Given the description of an element on the screen output the (x, y) to click on. 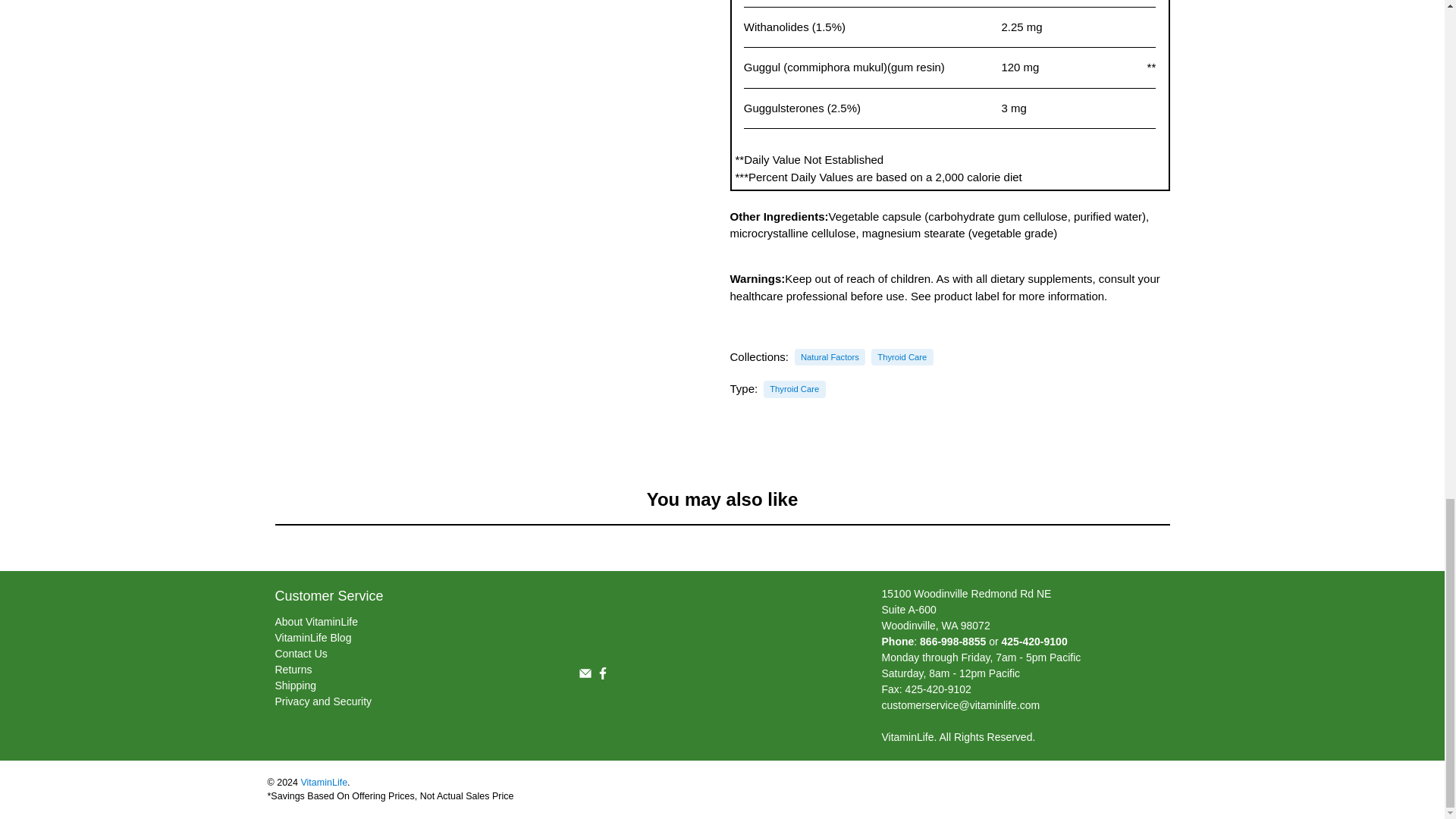
Thyroid Care (794, 389)
Thyroid Care (901, 357)
VitaminLife on Facebook (602, 676)
VitaminLife (693, 618)
Natural Factors (829, 357)
Email VitaminLife (584, 676)
